Given the description of an element on the screen output the (x, y) to click on. 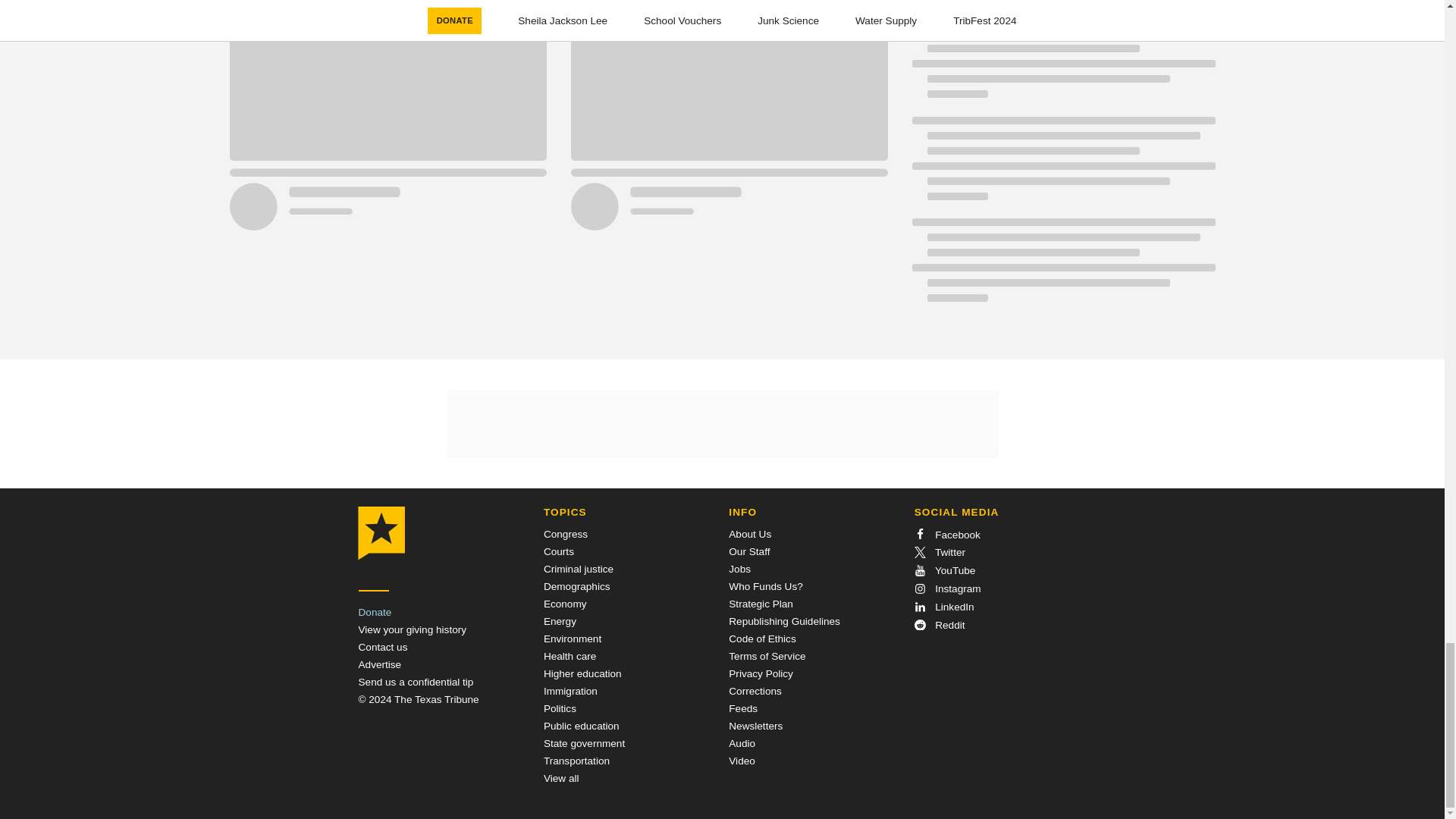
Code of Ethics (761, 638)
Send a Tip (415, 681)
Facebook (946, 533)
Newsletters (756, 726)
Donate (374, 612)
Strategic Plan (761, 603)
Loading indicator (1062, 166)
Corrections (755, 690)
Loading indicator (1062, 63)
Video (742, 760)
Advertise (379, 664)
Loading indicator (1062, 267)
Privacy Policy (761, 673)
Feeds (743, 708)
About Us (750, 533)
